Given the description of an element on the screen output the (x, y) to click on. 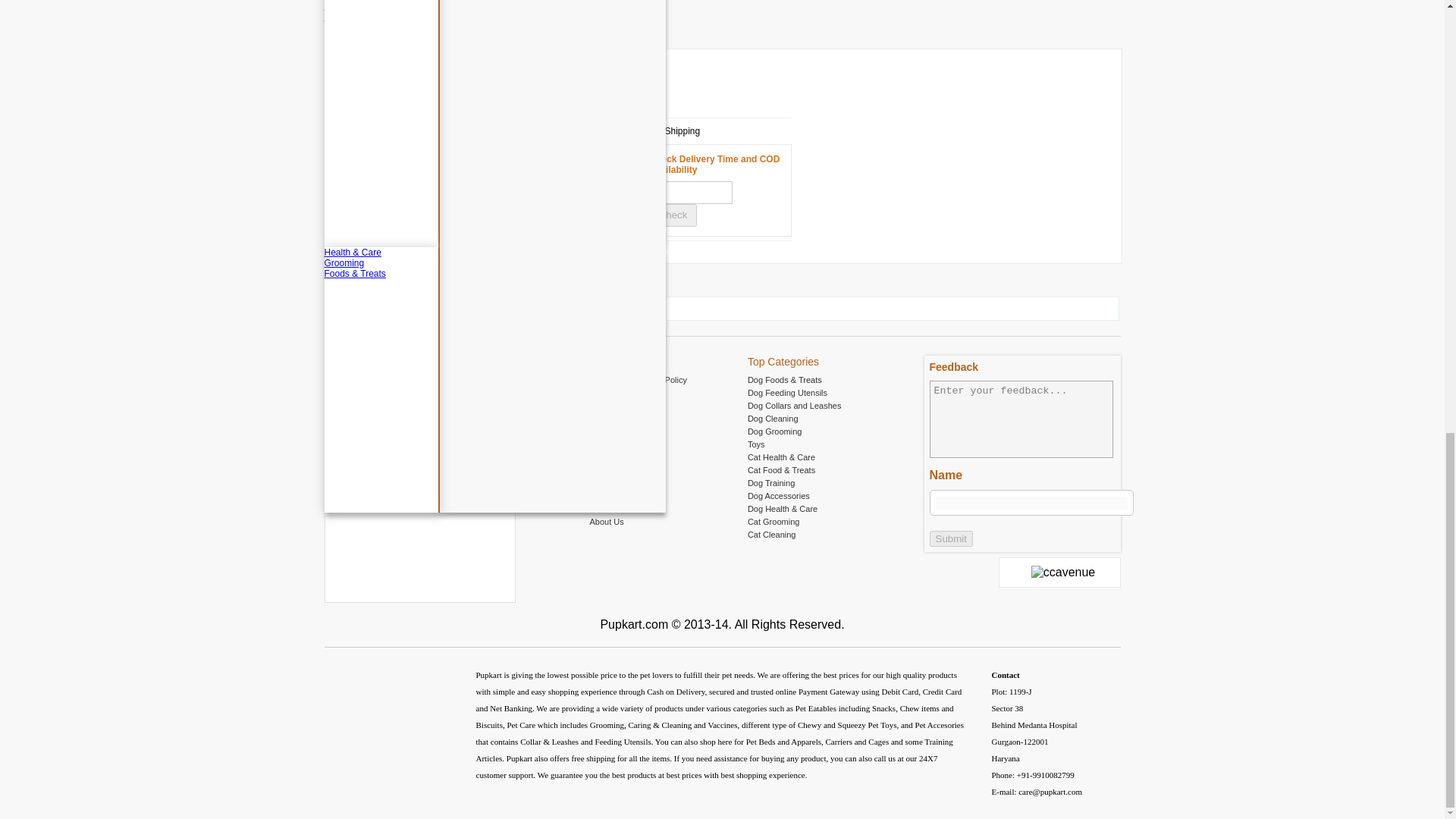
Submit (951, 538)
Check (672, 214)
Brands (722, 16)
Small Pets (722, 5)
